Given the description of an element on the screen output the (x, y) to click on. 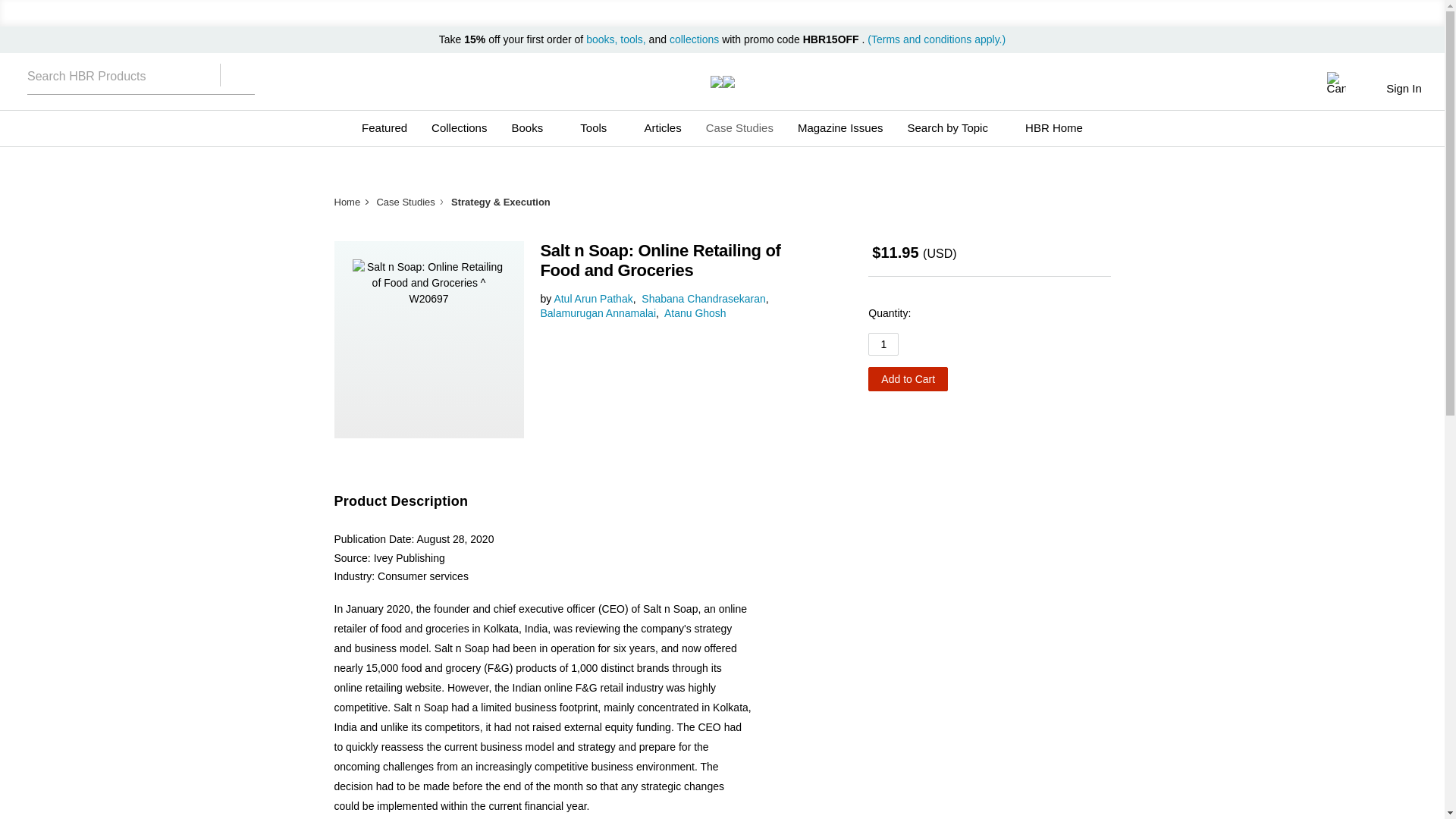
collections (694, 39)
books, (603, 39)
tools, (632, 39)
Add to Cart (907, 378)
HBR.ORG - Prod (716, 81)
Sign In (1403, 88)
Tools (599, 127)
Collections (459, 127)
Books (533, 127)
Featured (384, 127)
